Given the description of an element on the screen output the (x, y) to click on. 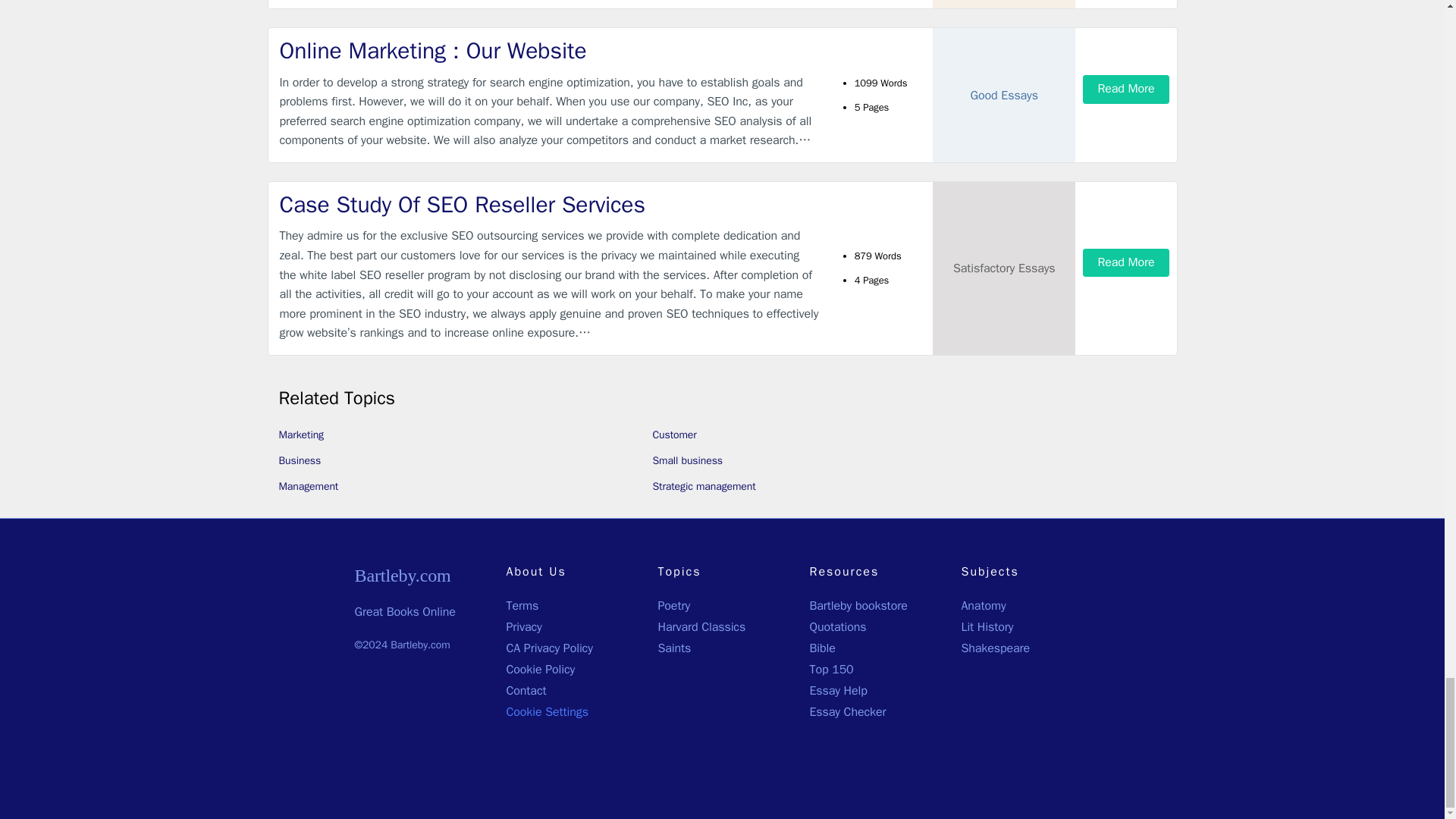
Marketing (301, 434)
Management (309, 486)
Strategic management (703, 486)
Customer (673, 434)
Business (300, 460)
Small business (687, 460)
